Given the description of an element on the screen output the (x, y) to click on. 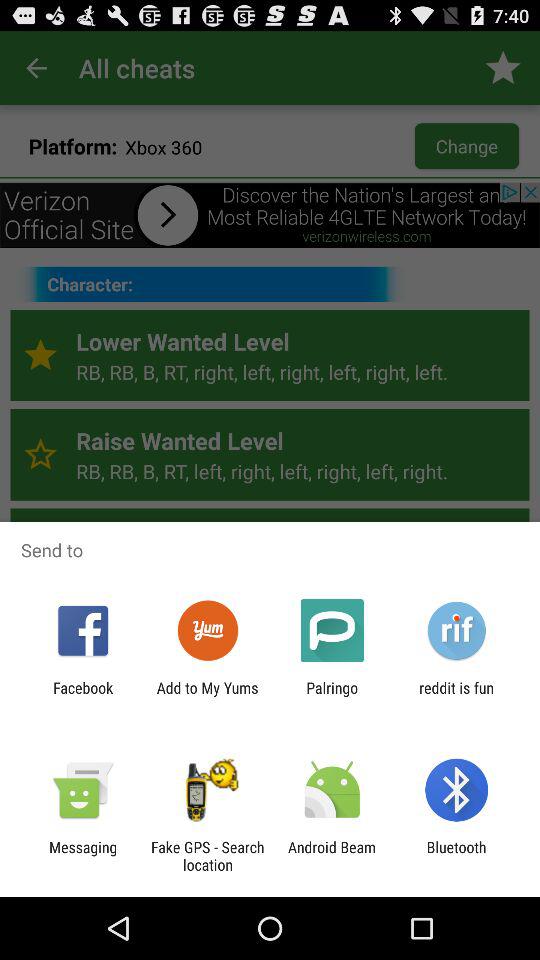
open the item to the right of the palringo icon (456, 696)
